Given the description of an element on the screen output the (x, y) to click on. 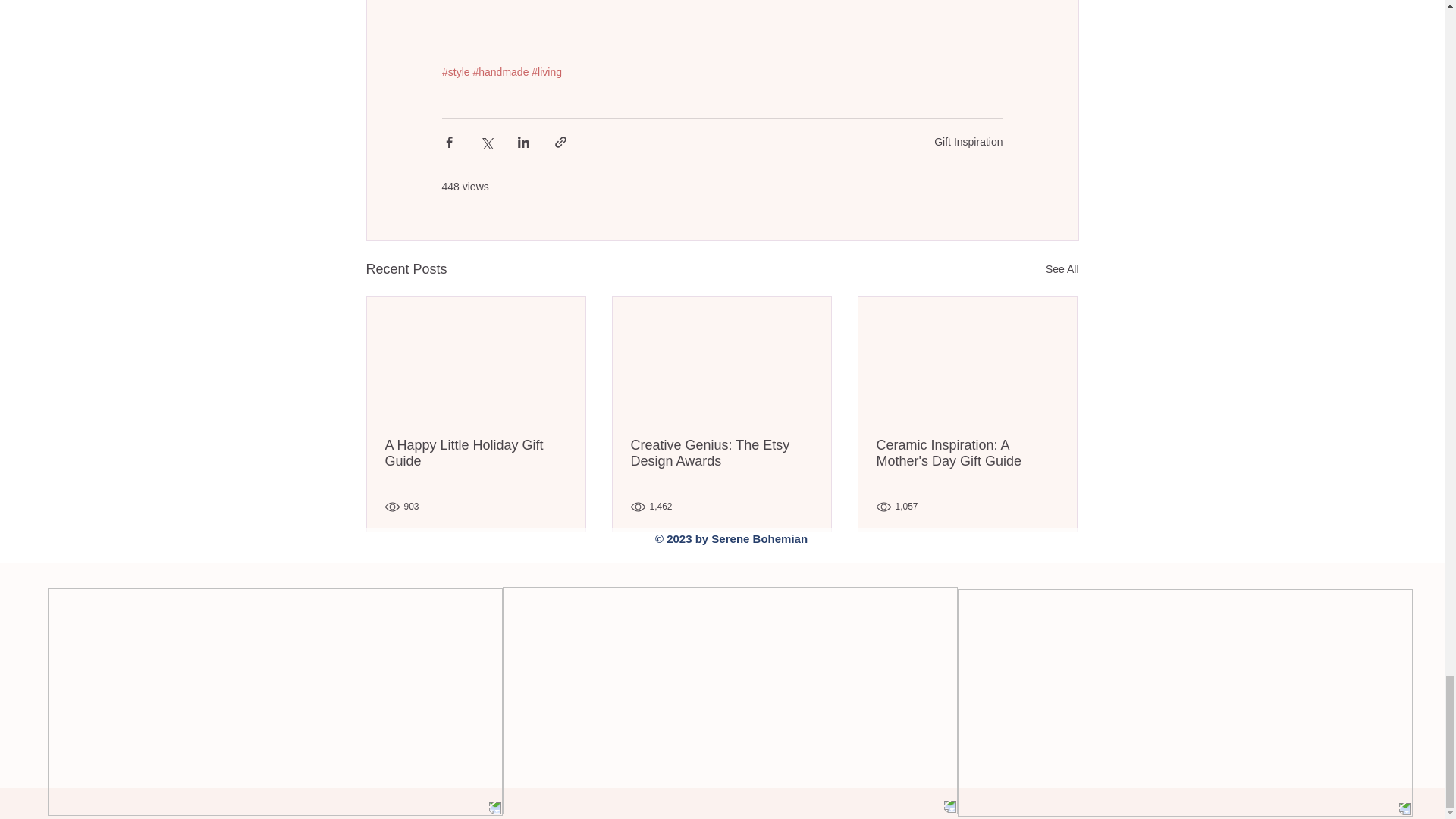
A Happy Little Holiday Gift Guide (476, 453)
Creative Genius: The Etsy Design Awards (721, 453)
seamless border 3.png (729, 700)
seamless border 3.png (1184, 702)
Gift Inspiration (968, 141)
See All (1061, 269)
seamless border 3.png (274, 701)
